Given the description of an element on the screen output the (x, y) to click on. 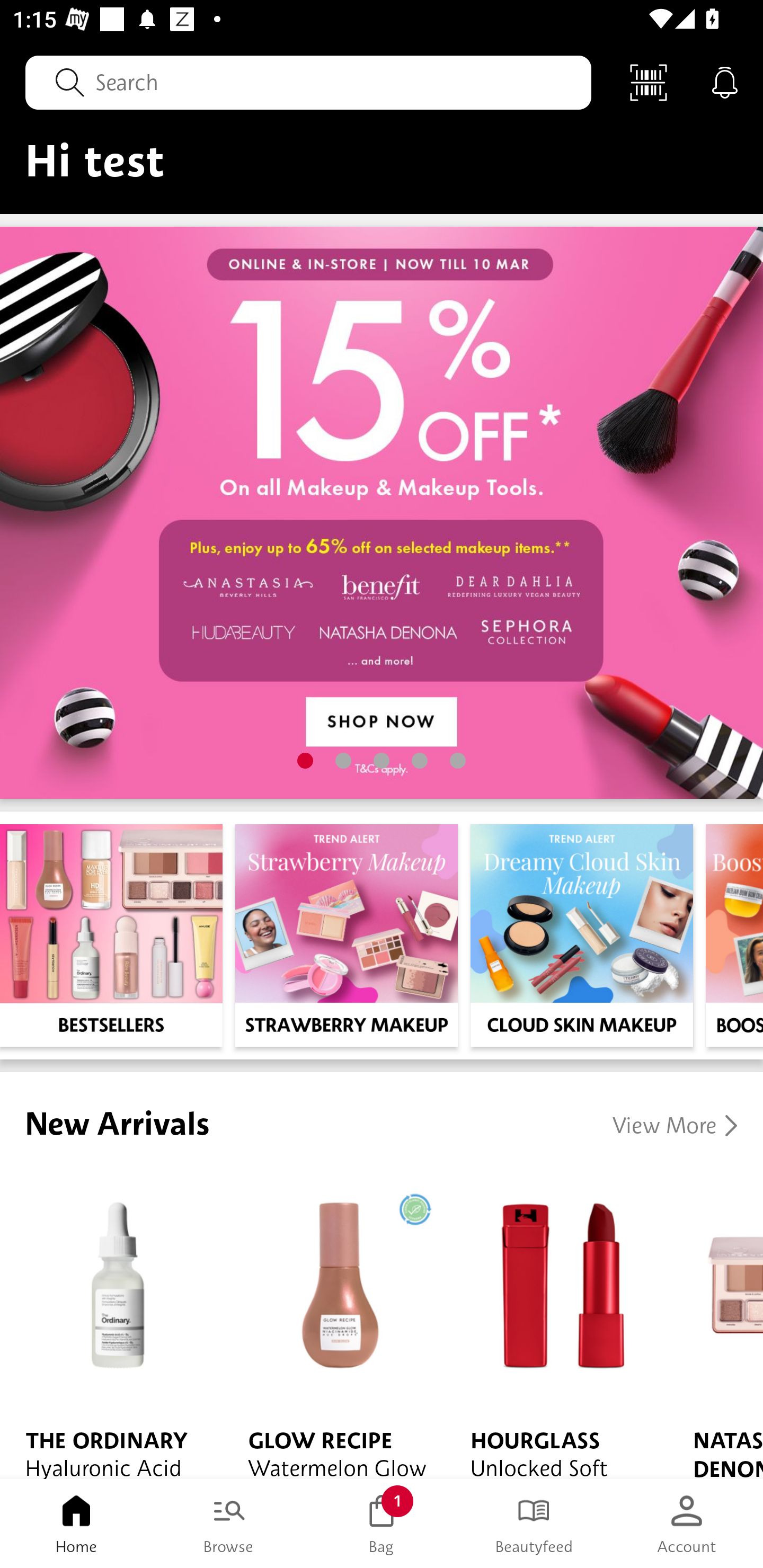
Scan Code (648, 81)
Notifications (724, 81)
Search (308, 81)
View More (674, 1125)
THE ORDINARY Hyaluronic Acid 2% + B5 (111, 1323)
GLOW RECIPE Watermelon Glow Niacinamide Hue Drops (333, 1323)
HOURGLASS Unlocked Soft Matte Lipstick (555, 1323)
Browse (228, 1523)
Bag 1 Bag (381, 1523)
Beautyfeed (533, 1523)
Account (686, 1523)
